Given the description of an element on the screen output the (x, y) to click on. 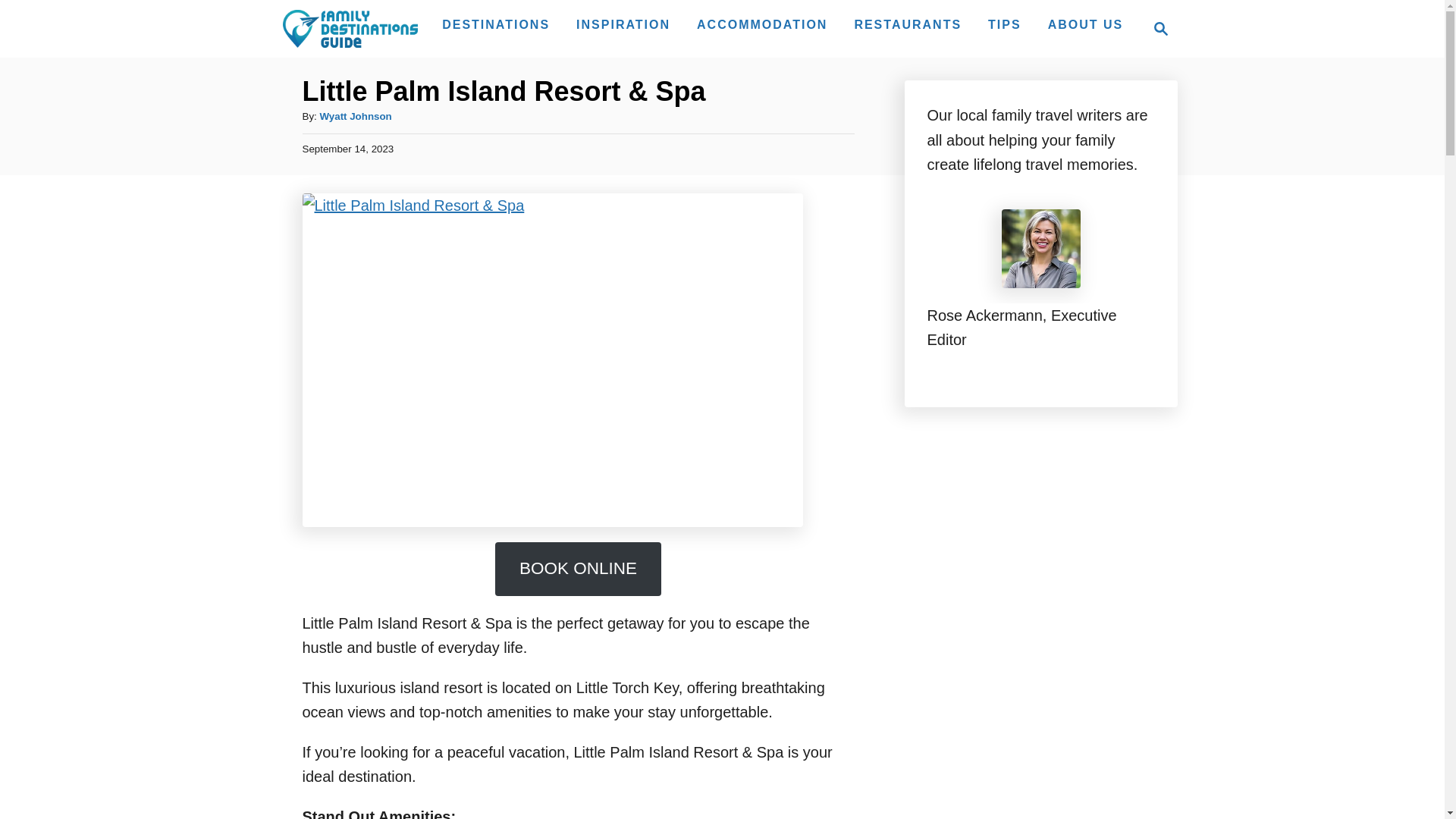
TIPS (1004, 24)
RESTAURANTS (907, 24)
DESTINATIONS (495, 24)
ABOUT US (1155, 28)
ACCOMMODATION (1086, 24)
INSPIRATION (761, 24)
Family Destinations Guide (623, 24)
BOOK ONLINE (349, 28)
Magnifying Glass (578, 569)
